Given the description of an element on the screen output the (x, y) to click on. 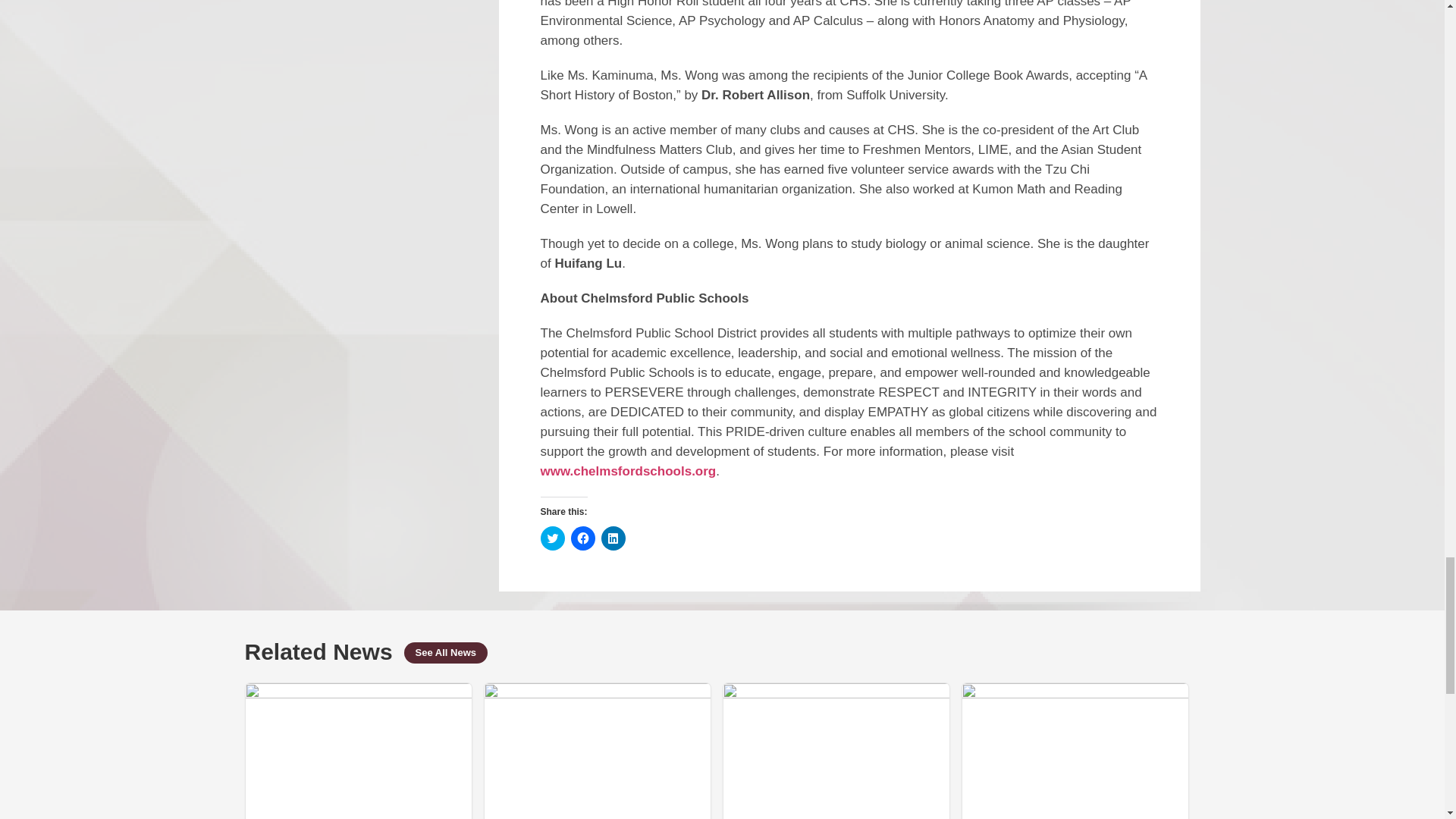
Click to share on Facebook (582, 538)
Click to share on LinkedIn (611, 538)
Click to share on Twitter (552, 538)
